Given the description of an element on the screen output the (x, y) to click on. 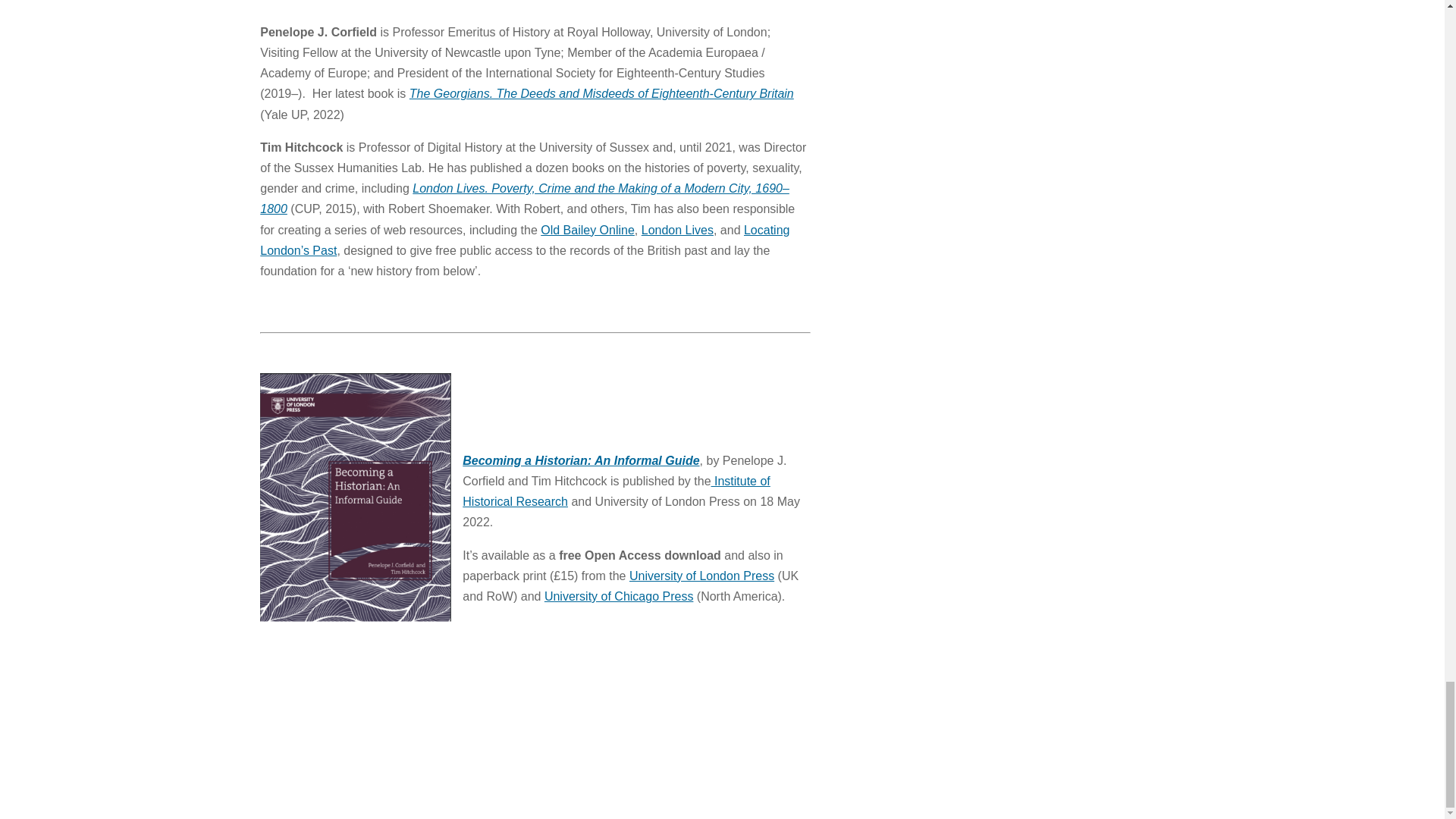
London Lives (677, 229)
Old Bailey Online (587, 229)
University of Chicago Press (619, 595)
Institute of Historical Research (616, 491)
University of London Press (701, 575)
Becoming a Historian: An Informal Guide (580, 460)
